Given the description of an element on the screen output the (x, y) to click on. 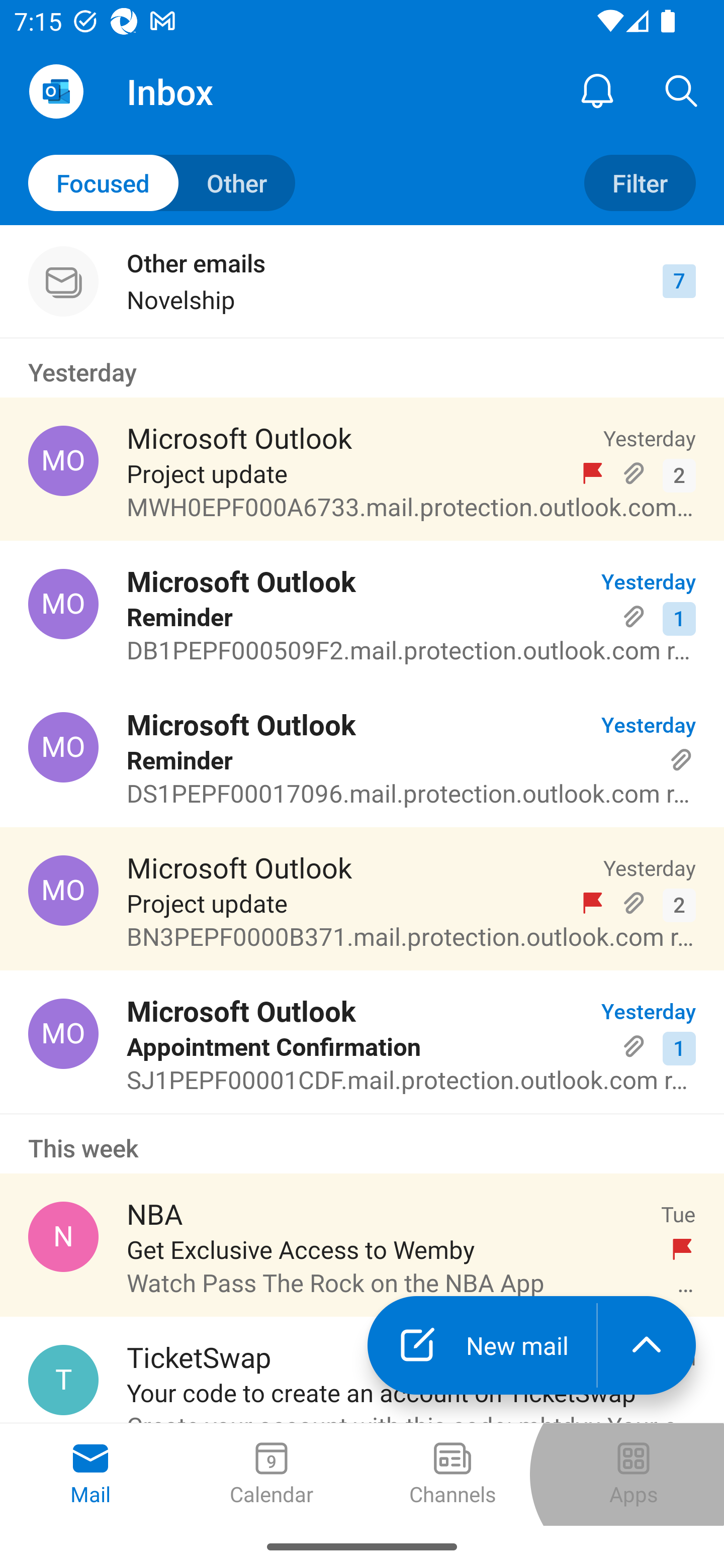
Notification Center (597, 90)
Search, ,  (681, 90)
Open Navigation Drawer (55, 91)
Toggle to other mails (161, 183)
Filter (639, 183)
Other emails Novelship 7 (362, 281)
NBA, NBA@email.nba.com (63, 1236)
New mail (481, 1344)
launch the extended action menu (646, 1344)
TicketSwap, info@ticketswap.com (63, 1380)
Calendar (271, 1474)
Channels (452, 1474)
Apps (633, 1474)
